Given the description of an element on the screen output the (x, y) to click on. 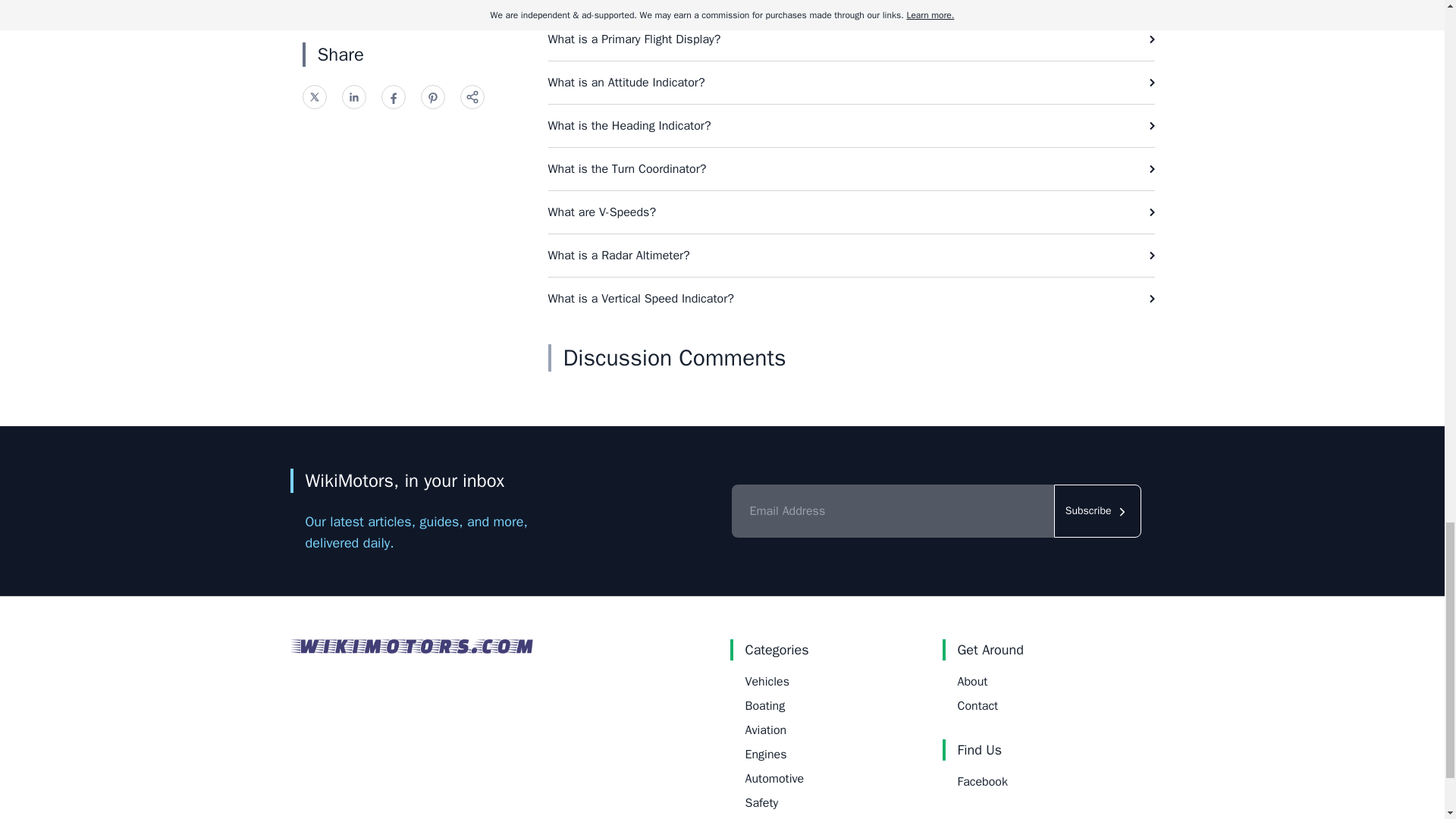
What is the Heading Indicator? (850, 125)
What is the Turn Coordinator? (850, 169)
What is a Primary Flight Display? (850, 39)
What is an Attitude Indicator? (850, 82)
